Given the description of an element on the screen output the (x, y) to click on. 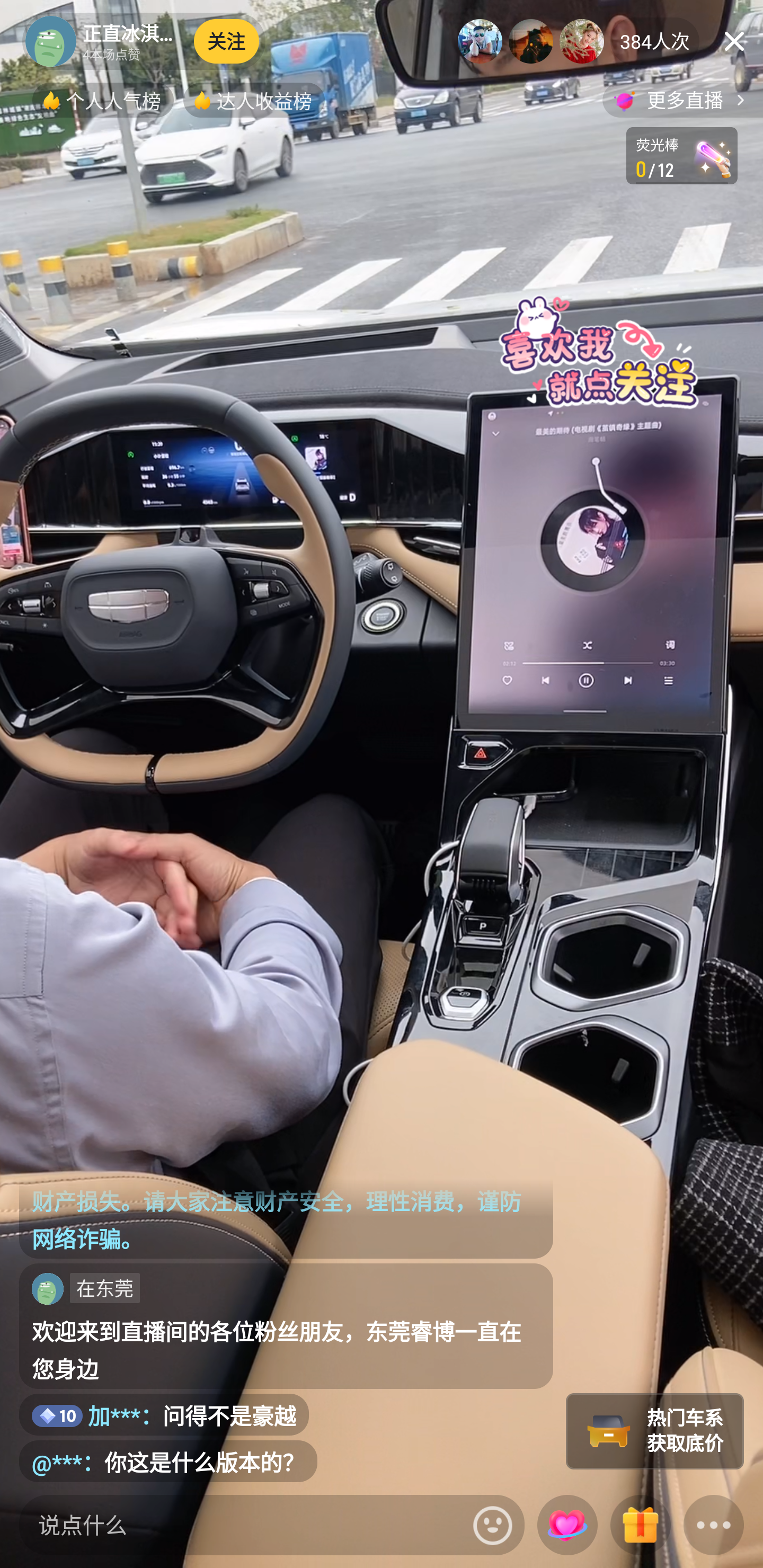
榜一 @*** (479, 41)
榜二 缥*** (530, 41)
榜三 @*** (581, 41)
主播正直冰淇淋PXA 4本场点赞  正直冰淇淋PXA 4本场点赞 关注 (143, 41)
384人次 (654, 41)
关注 (226, 41)
关闭 (733, 41)
个人人气榜，按钮 (102, 100)
达人收益榜，按钮 (254, 100)
更多直播 (682, 100)
心愿单- (681, 156)
热门车系 获取底价 (654, 1431)
* 加***：问得不是豪越 (164, 1414)
@***：你这是什么版本的？ (168, 1460)
说点什么 (241, 1524)
表情入口 (492, 1524)
礼物 (640, 1526)
更多面板 按钮 (713, 1526)
小心心 (567, 1524)
